Given the description of an element on the screen output the (x, y) to click on. 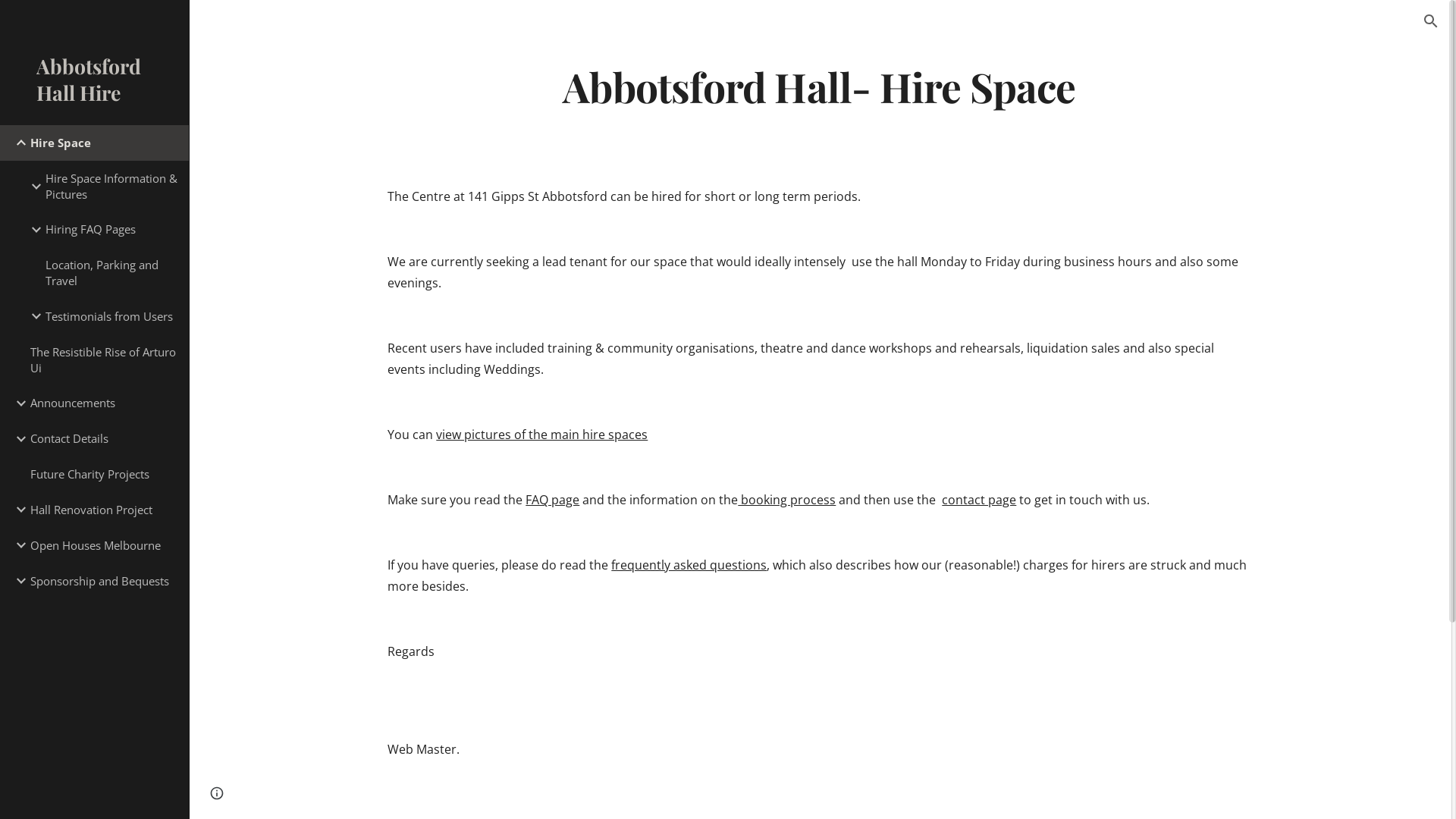
Location, Parking and Travel Element type: text (110, 272)
Expand/Collapse Element type: hover (16, 142)
  Element type: text (434, 434)
Expand/Collapse Element type: hover (16, 580)
Testimonials from Users Element type: text (110, 316)
  Element type: text (609, 564)
Open Houses Melbourne Element type: text (103, 545)
Hiring FAQ Pages Element type: text (110, 229)
Expand/Collapse Element type: hover (31, 186)
Expand/Collapse Element type: hover (16, 438)
Expand/Collapse Element type: hover (16, 545)
Expand/Collapse Element type: hover (16, 509)
  Element type: text (523, 499)
contact page Element type: text (978, 499)
 booking process Element type: text (786, 499)
Expand/Collapse Element type: hover (31, 316)
view pictures of the main hire spaces Element type: text (541, 434)
Hire Space Information & Pictures Element type: text (110, 186)
Expand/Collapse Element type: hover (16, 403)
Hire Space Element type: text (103, 142)
Hall Renovation Project Element type: text (103, 509)
Announcements Element type: text (103, 402)
Contact Details Element type: text (103, 438)
Future Charity Projects Element type: text (103, 474)
frequently asked questions Element type: text (688, 564)
The Resistible Rise of Arturo Ui Element type: text (103, 359)
Expand/Collapse Element type: hover (31, 229)
Abbotsford Hall Hire Element type: text (94, 84)
Sponsorship and Bequests Element type: text (103, 581)
FAQ page Element type: text (552, 499)
